Given the description of an element on the screen output the (x, y) to click on. 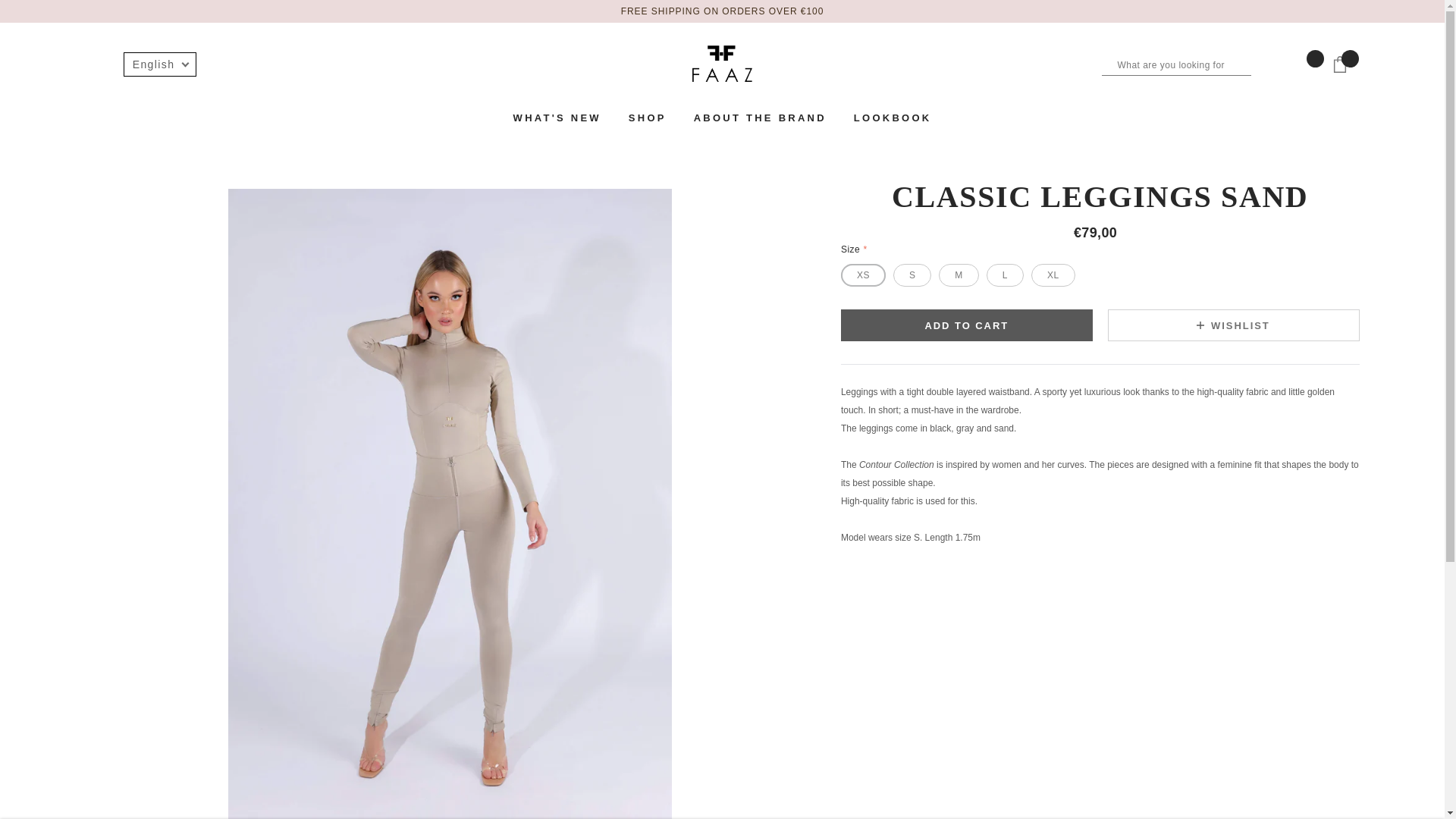
S (912, 274)
0 (1345, 69)
WHAT'S NEW (557, 117)
M (958, 274)
search (1262, 64)
ABOUT THE BRAND (760, 117)
WISHLIST (1233, 325)
LOOKBOOK (892, 117)
XS (863, 274)
L (1005, 274)
User Icon (92, 63)
XL (1052, 274)
ADD TO CART (967, 325)
